Given the description of an element on the screen output the (x, y) to click on. 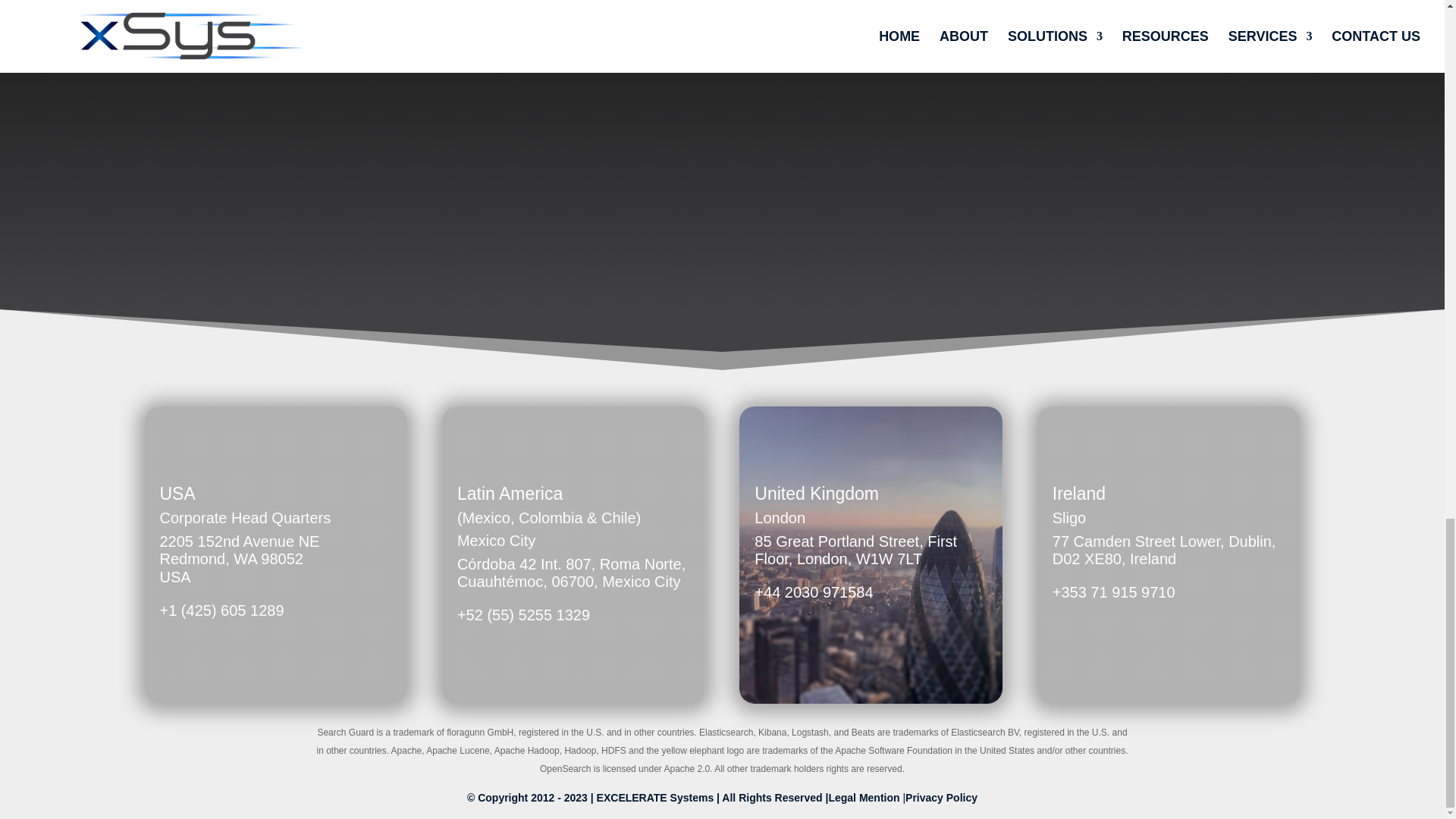
Legal Mention (865, 797)
Privacy Policy (940, 797)
EXCELERATE Systems (655, 797)
